Given the description of an element on the screen output the (x, y) to click on. 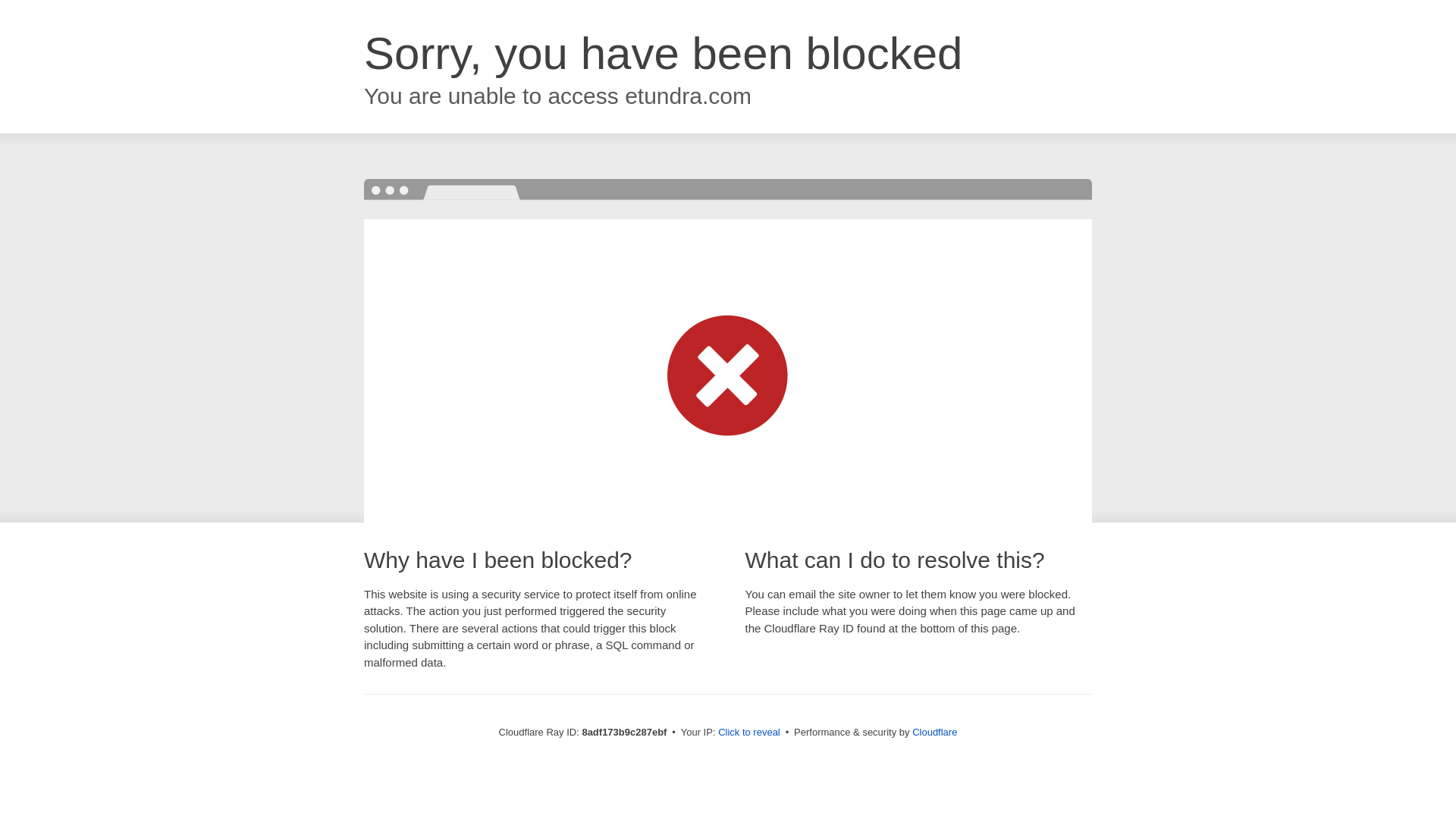
Cloudflare (934, 731)
Click to reveal (748, 732)
